Given the description of an element on the screen output the (x, y) to click on. 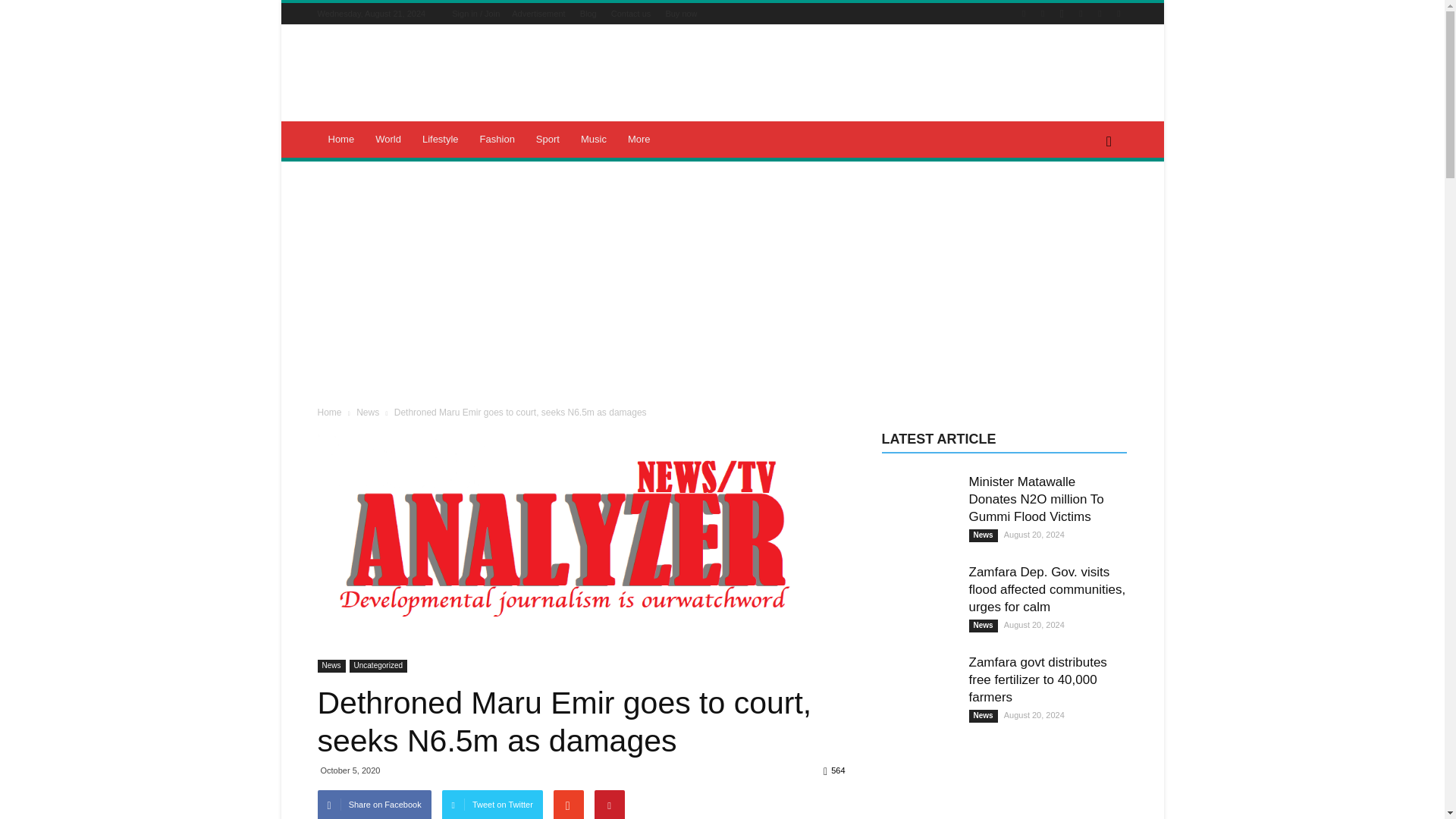
Advertisement (538, 13)
Blog (587, 13)
Buy now (681, 13)
Contact us (630, 13)
Home (341, 139)
